Given the description of an element on the screen output the (x, y) to click on. 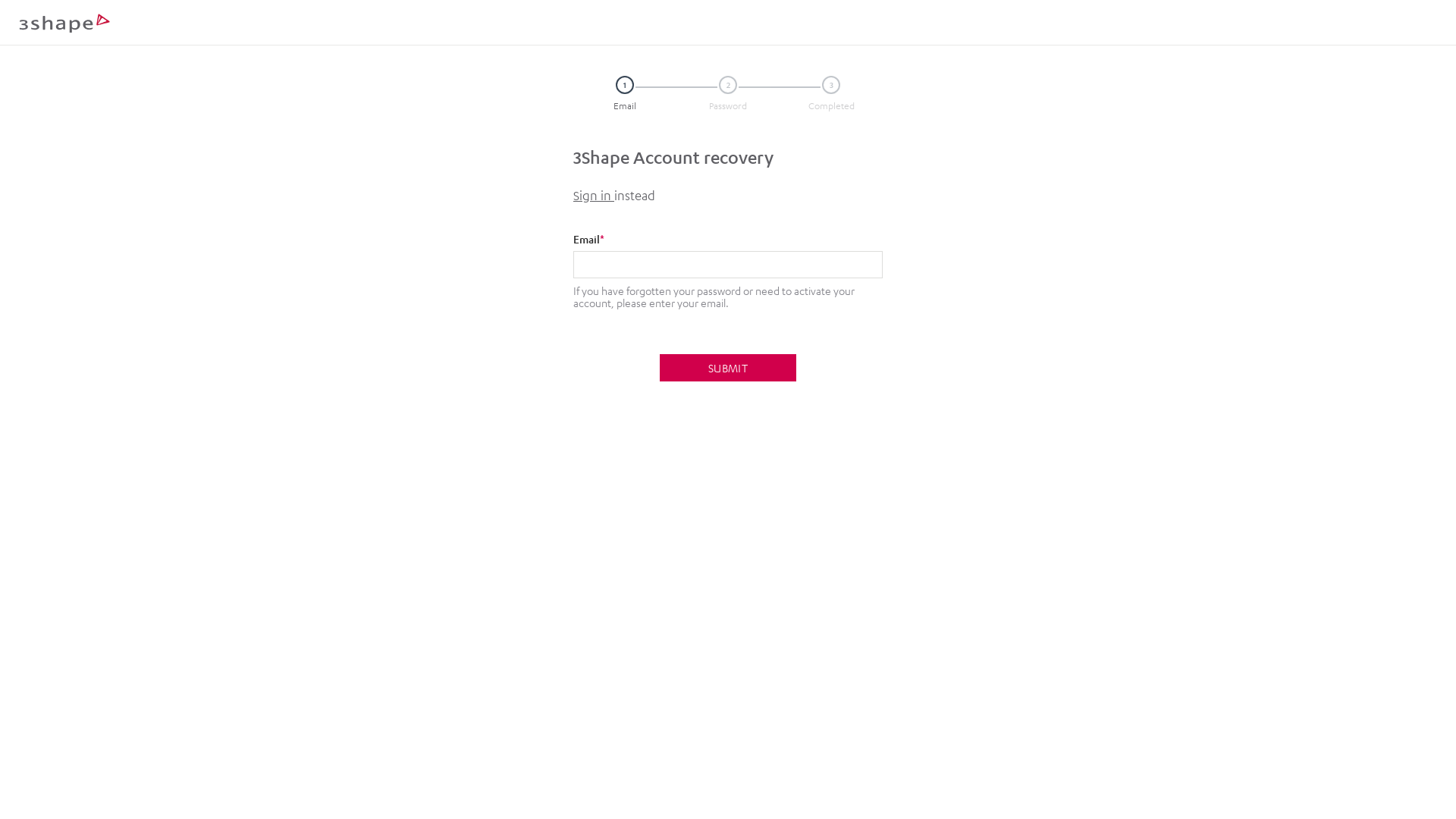
SUBMIT Element type: text (727, 367)
Sign in Element type: text (593, 195)
